Given the description of an element on the screen output the (x, y) to click on. 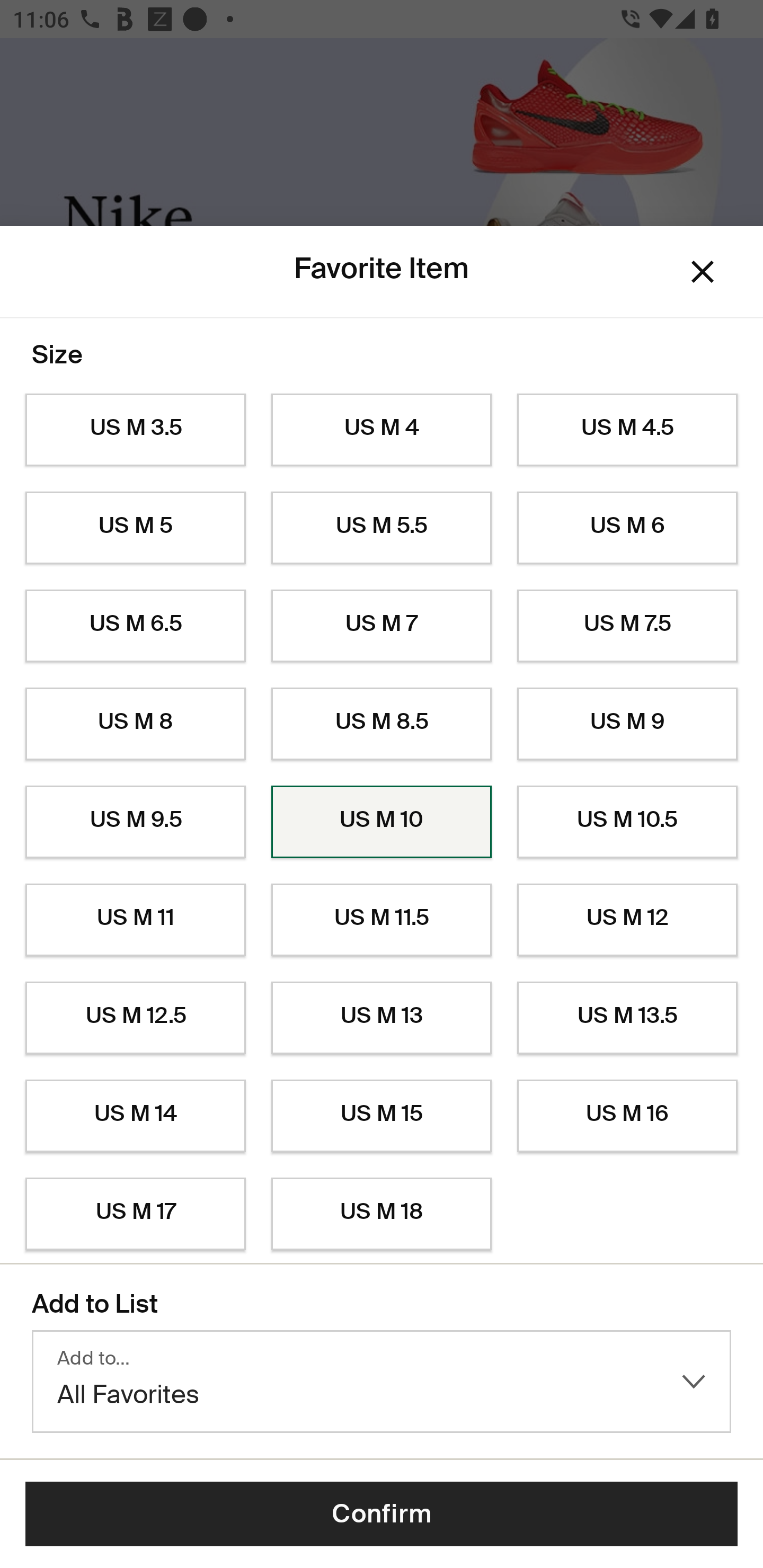
Dismiss (702, 271)
US M 3.5 (135, 430)
US M 4 (381, 430)
US M 4.5 (627, 430)
US M 5 (135, 527)
US M 5.5 (381, 527)
US M 6 (627, 527)
US M 6.5 (135, 626)
US M 7 (381, 626)
US M 7.5 (627, 626)
US M 8 (135, 724)
US M 8.5 (381, 724)
US M 9 (627, 724)
US M 9.5 (135, 822)
US M 10 (381, 822)
US M 10.5 (627, 822)
US M 11 (135, 919)
US M 11.5 (381, 919)
US M 12 (627, 919)
US M 12.5 (135, 1018)
US M 13 (381, 1018)
US M 13.5 (627, 1018)
US M 14 (135, 1116)
US M 15 (381, 1116)
US M 16 (627, 1116)
US M 17 (135, 1214)
US M 18 (381, 1214)
Add to… All Favorites (381, 1381)
Confirm (381, 1513)
